Given the description of an element on the screen output the (x, y) to click on. 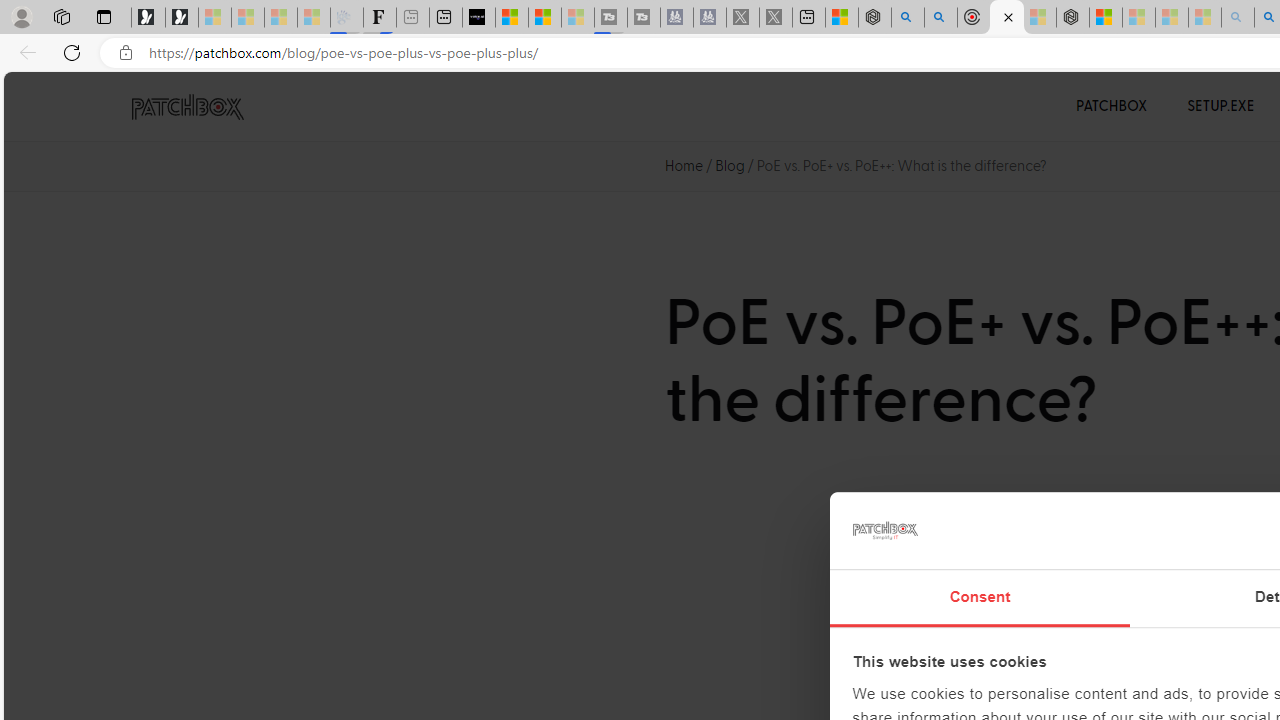
SETUP.EXE (1220, 106)
PATCHBOX - Simplify IT (187, 107)
poe - Search (908, 17)
SETUP.EXE (1220, 106)
amazon - Search - Sleeping (1238, 17)
